Given the description of an element on the screen output the (x, y) to click on. 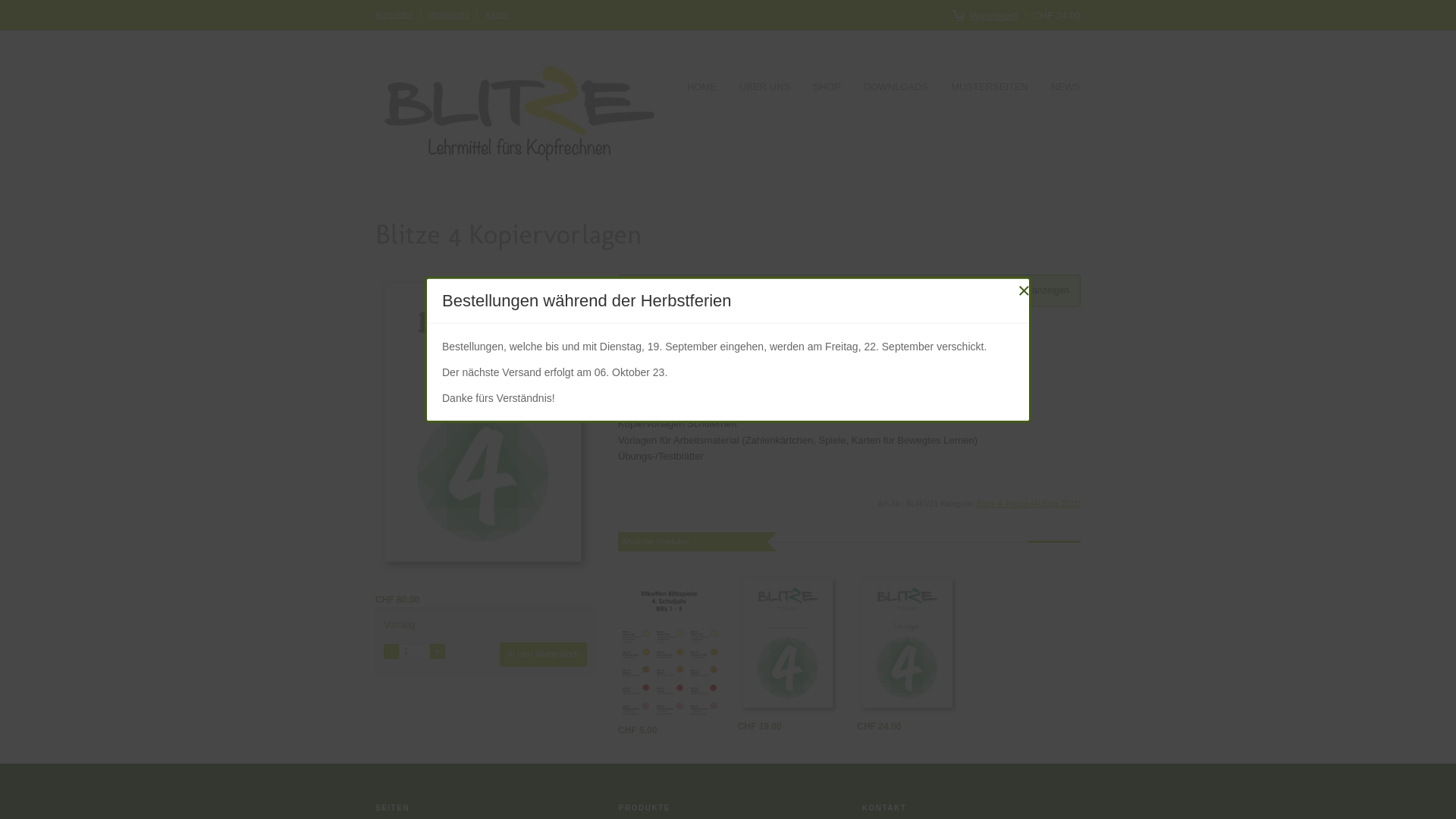
4_kopiervorlagen_web_schatten Element type: hover (485, 425)
CHF 24.00 Element type: text (878, 725)
Kasse Element type: text (496, 13)
Warenkorb anzeigen Element type: text (1027, 290)
Blitze 4. Klasse (Auflage 2021) Element type: text (1028, 503)
HOME Element type: text (701, 87)
Warenkorb Element type: text (985, 15)
MUSTERSEITEN Element type: text (989, 87)
In den Warenkorb Element type: text (542, 654)
Anmelden Element type: text (394, 13)
SHOP Element type: text (826, 87)
DOWNLOADS Element type: text (895, 87)
Menge Element type: hover (413, 650)
Warenkorb Element type: text (449, 13)
NEWS Element type: text (1065, 87)
CHF 19.00 Element type: text (759, 725)
CHF 5.00 Element type: text (637, 729)
